Given the description of an element on the screen output the (x, y) to click on. 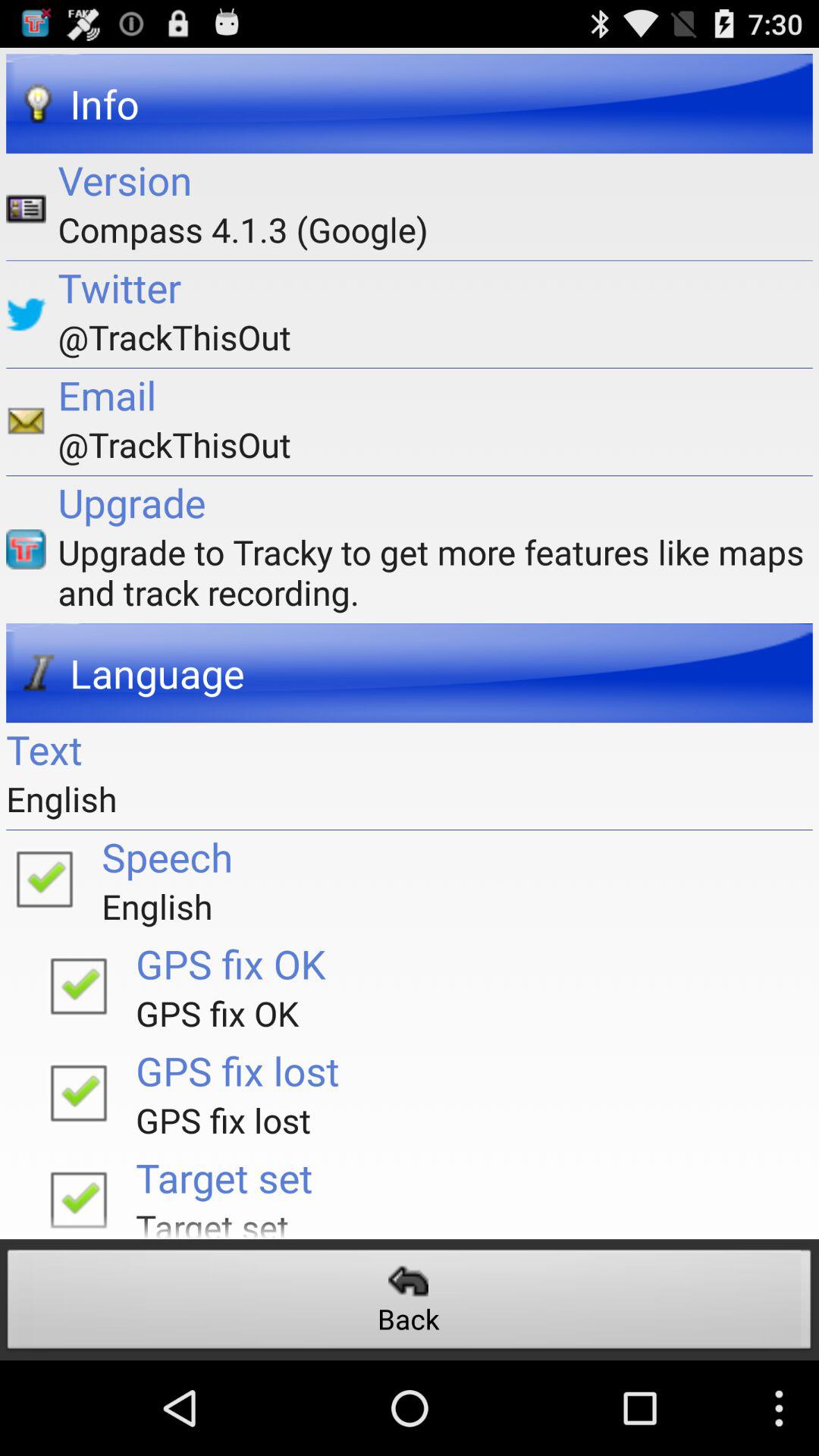
deselect target set (78, 1195)
